Given the description of an element on the screen output the (x, y) to click on. 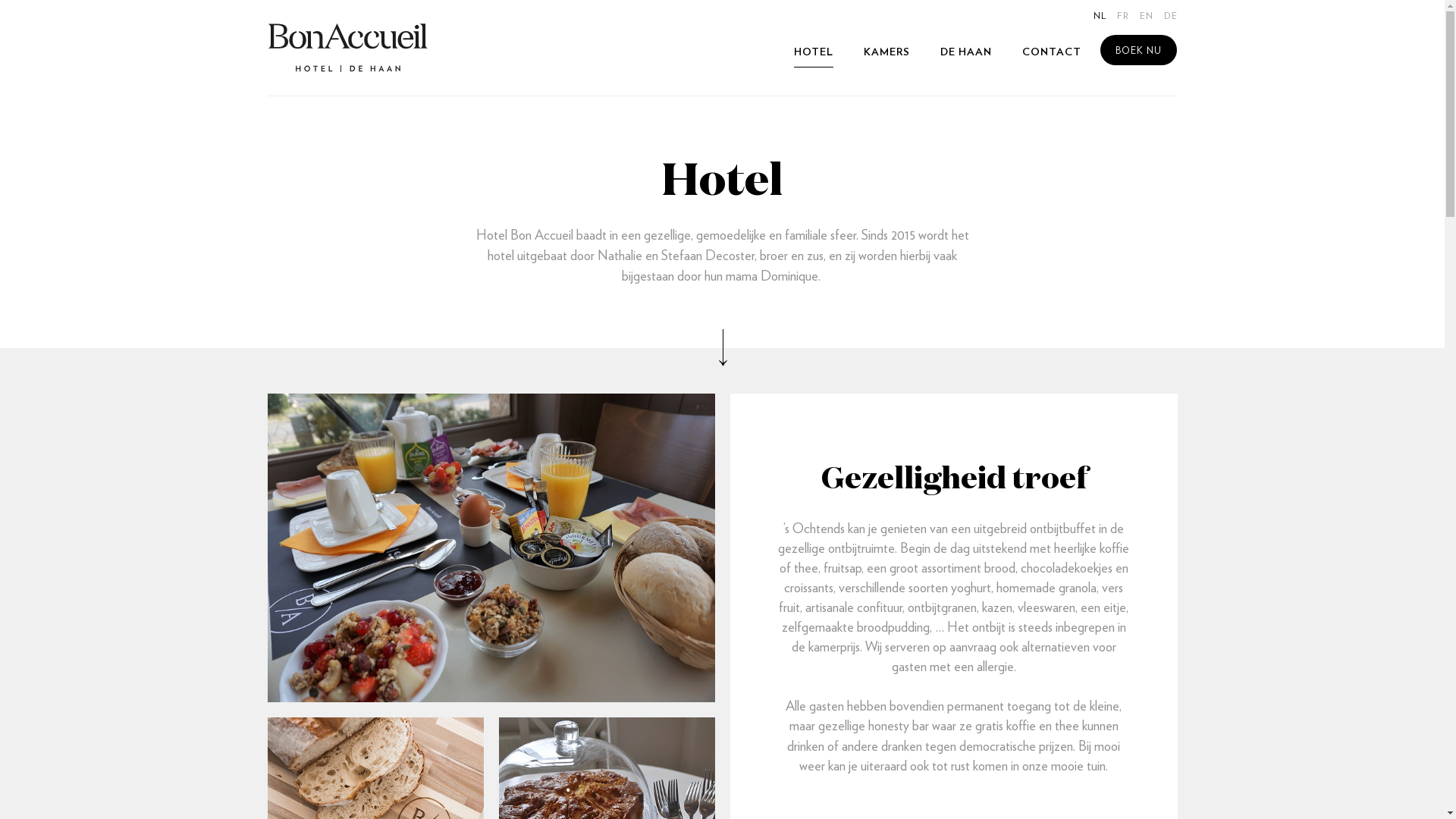
HOTEL
  Element type: text (812, 52)
FR Element type: text (1122, 16)
DE Element type: text (1169, 16)
DE HAAN Element type: text (965, 52)
KAMERS Element type: text (885, 52)
EN Element type: text (1145, 16)
CONTACT Element type: text (1051, 52)
  Element type: text (347, 47)
NL Element type: text (1099, 16)
BOEK NU Element type: text (1137, 49)
